Given the description of an element on the screen output the (x, y) to click on. 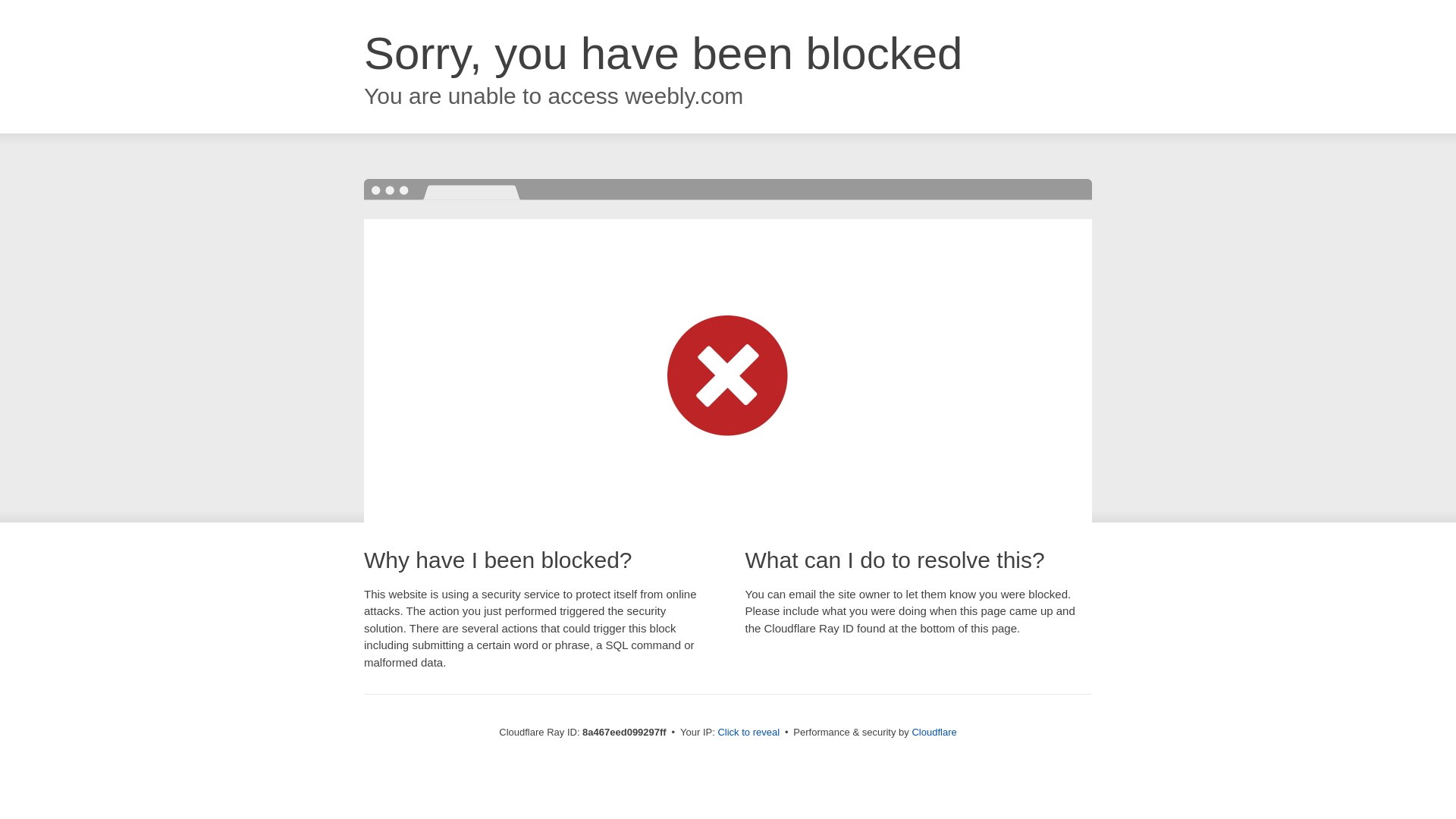
Cloudflare (933, 731)
Click to reveal (747, 732)
